Given the description of an element on the screen output the (x, y) to click on. 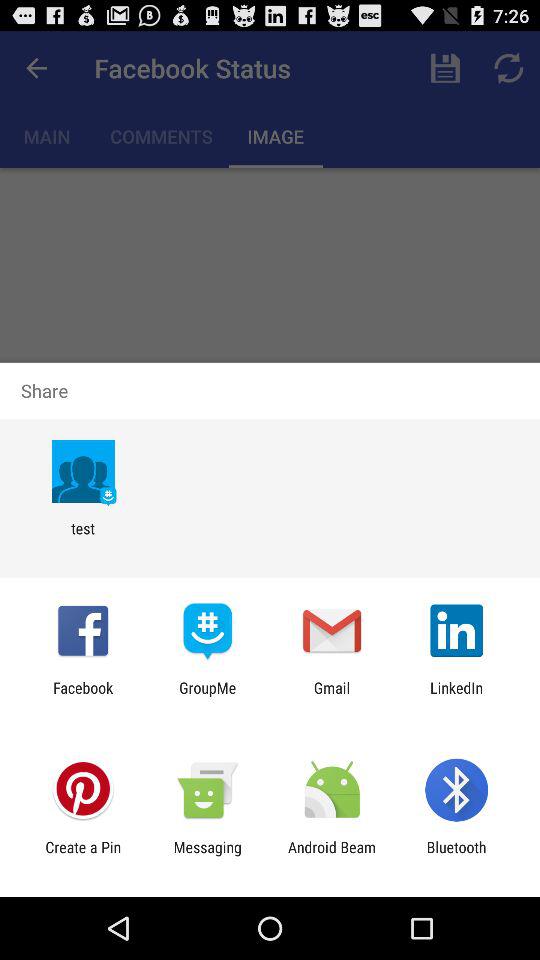
turn on app to the left of android beam app (207, 856)
